Given the description of an element on the screen output the (x, y) to click on. 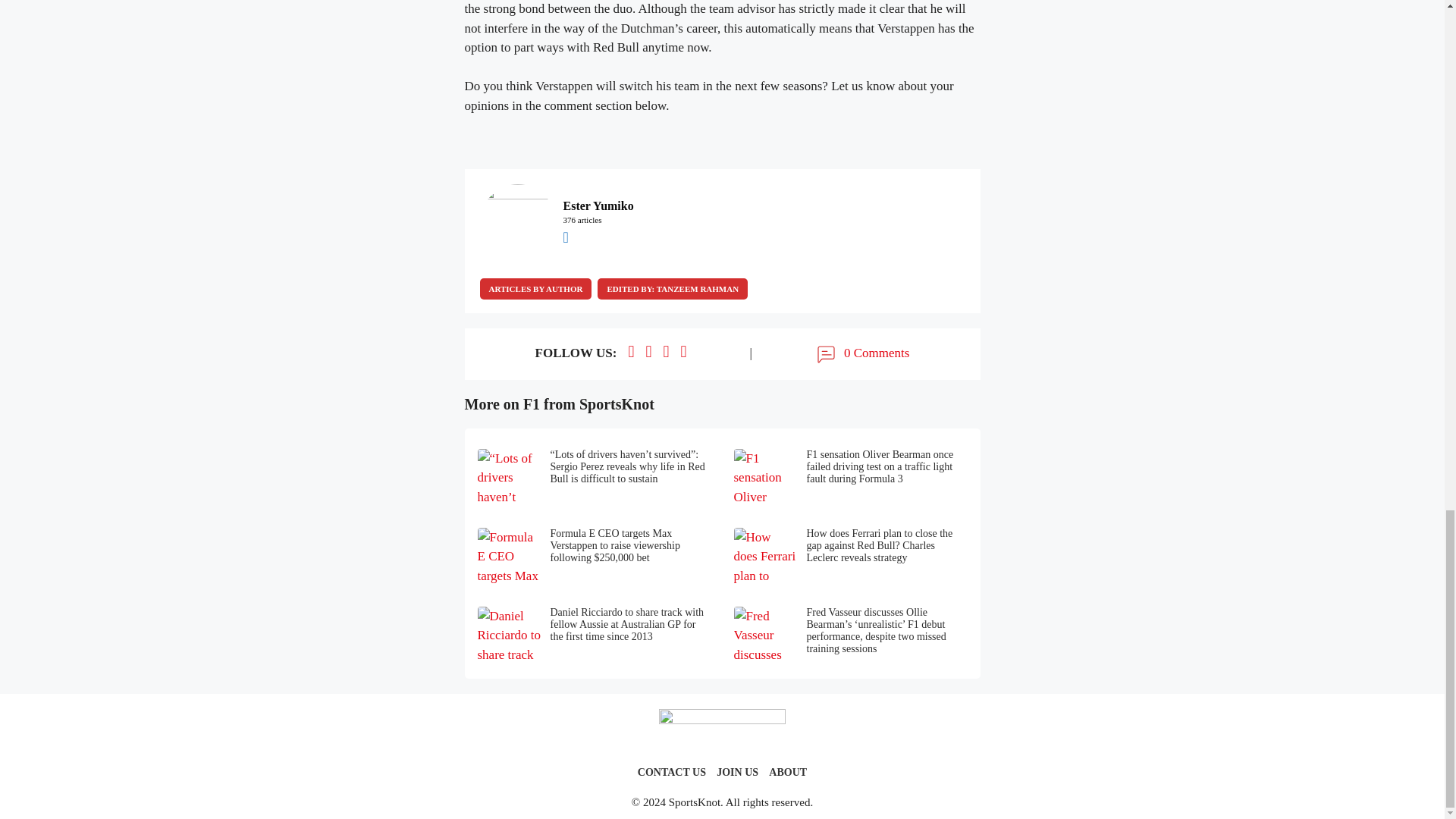
0 Comments (861, 353)
ARTICLES BY AUTHOR (535, 288)
EDITED BY: TANZEEM RAHMAN (672, 288)
